Given the description of an element on the screen output the (x, y) to click on. 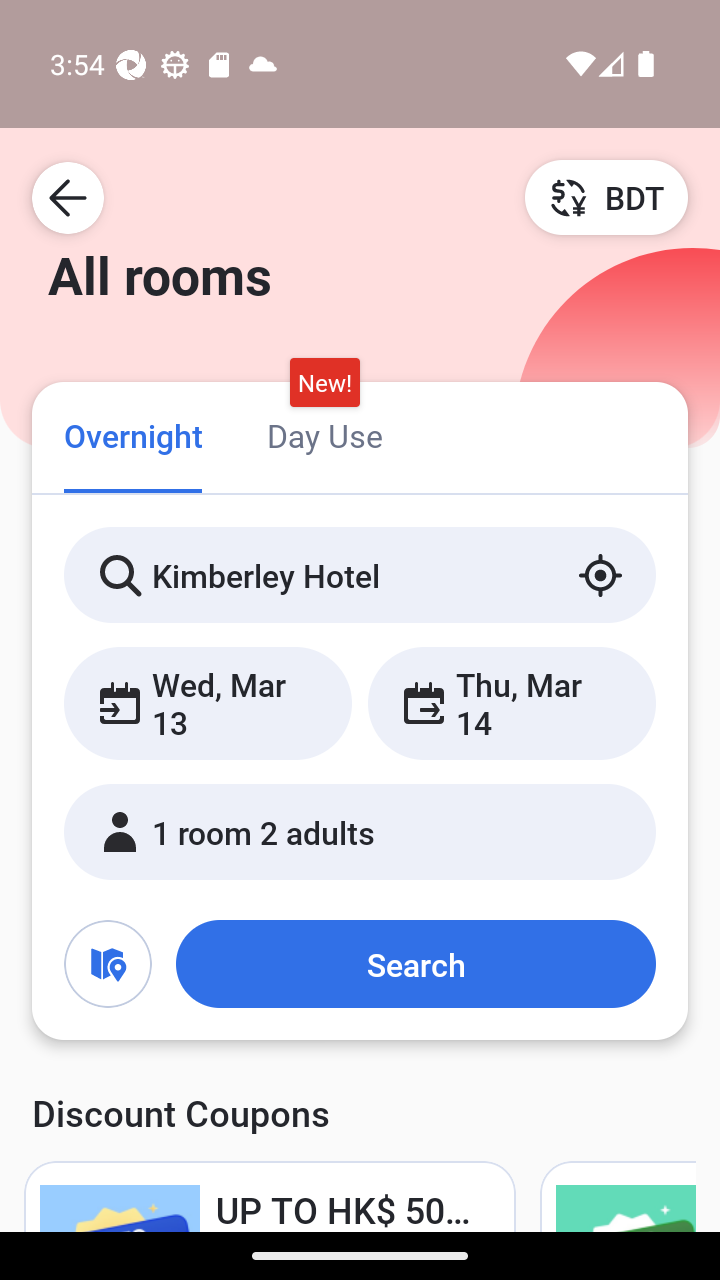
BDT (606, 197)
New! (324, 383)
Day Use (324, 434)
Kimberley Hotel (359, 575)
Wed, Mar 13 (208, 703)
Thu, Mar 14 (511, 703)
1 room 2 adults (359, 831)
Search (415, 964)
